Given the description of an element on the screen output the (x, y) to click on. 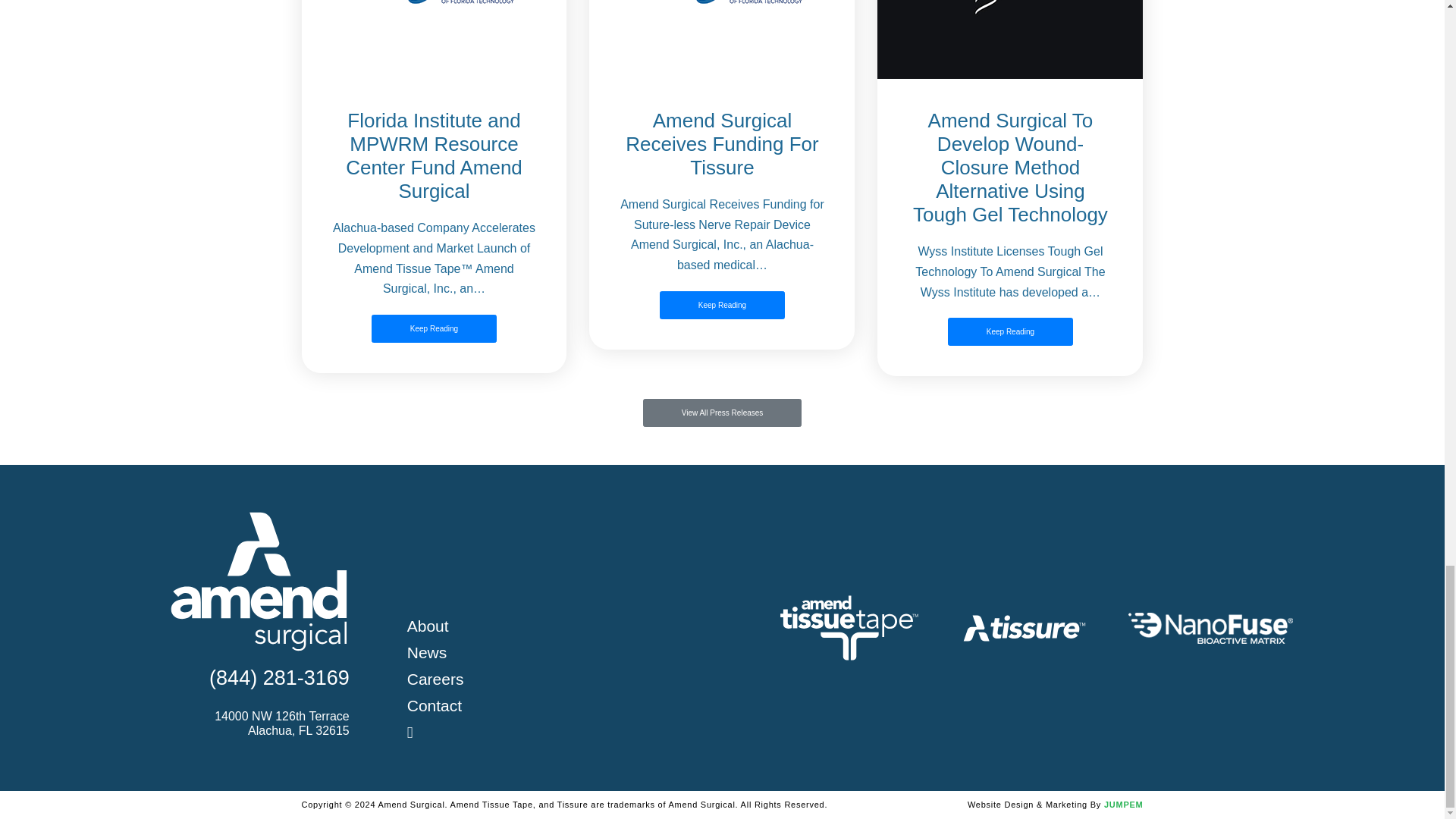
Website Design (1027, 804)
Keep Reading (1010, 331)
About (427, 625)
Contact (434, 705)
Careers (435, 678)
News (426, 651)
Keep Reading (721, 305)
View All Press Releases (722, 412)
Keep Reading (433, 328)
